Given the description of an element on the screen output the (x, y) to click on. 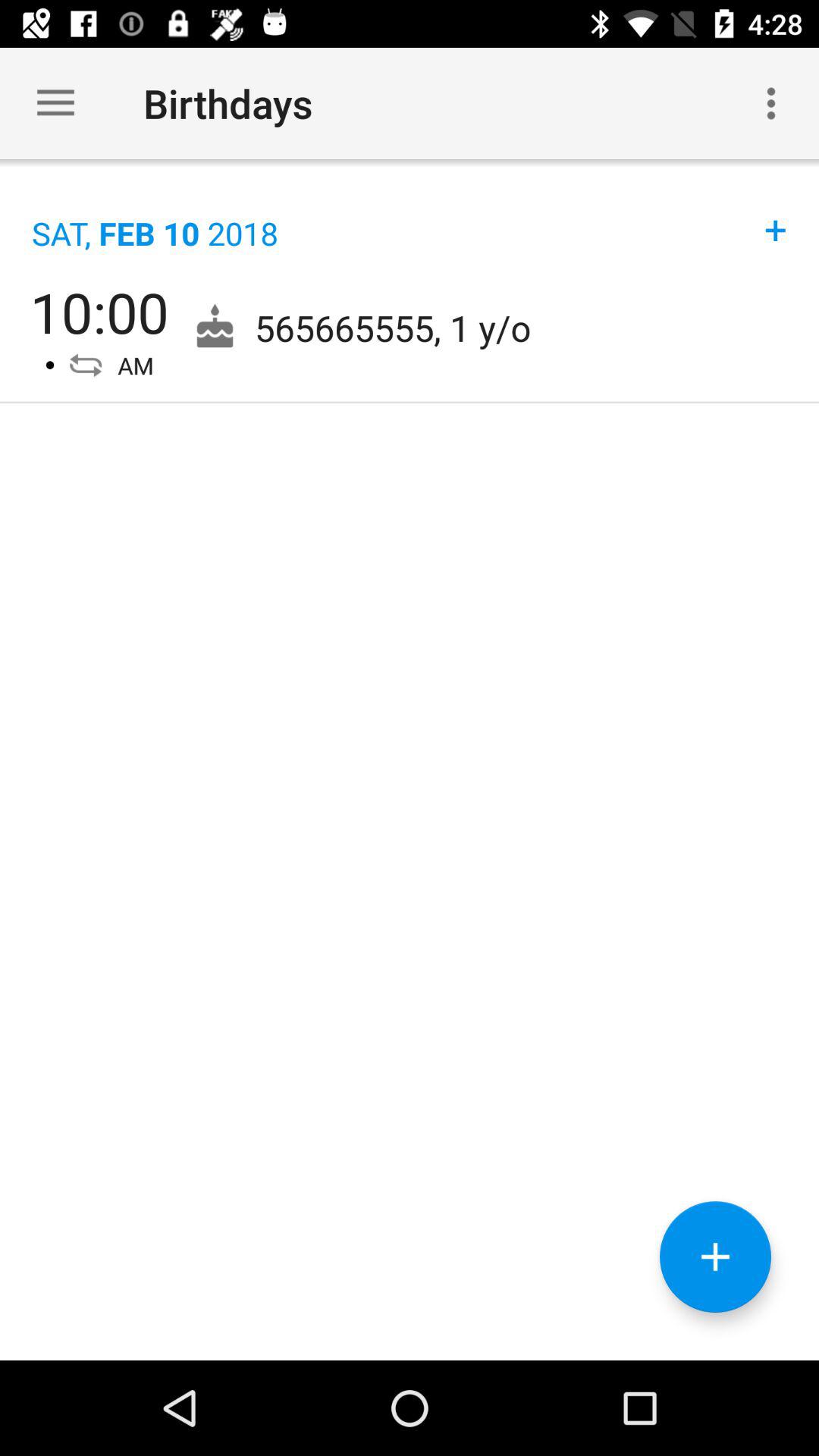
choose the icon next to the birthdays (771, 103)
